Given the description of an element on the screen output the (x, y) to click on. 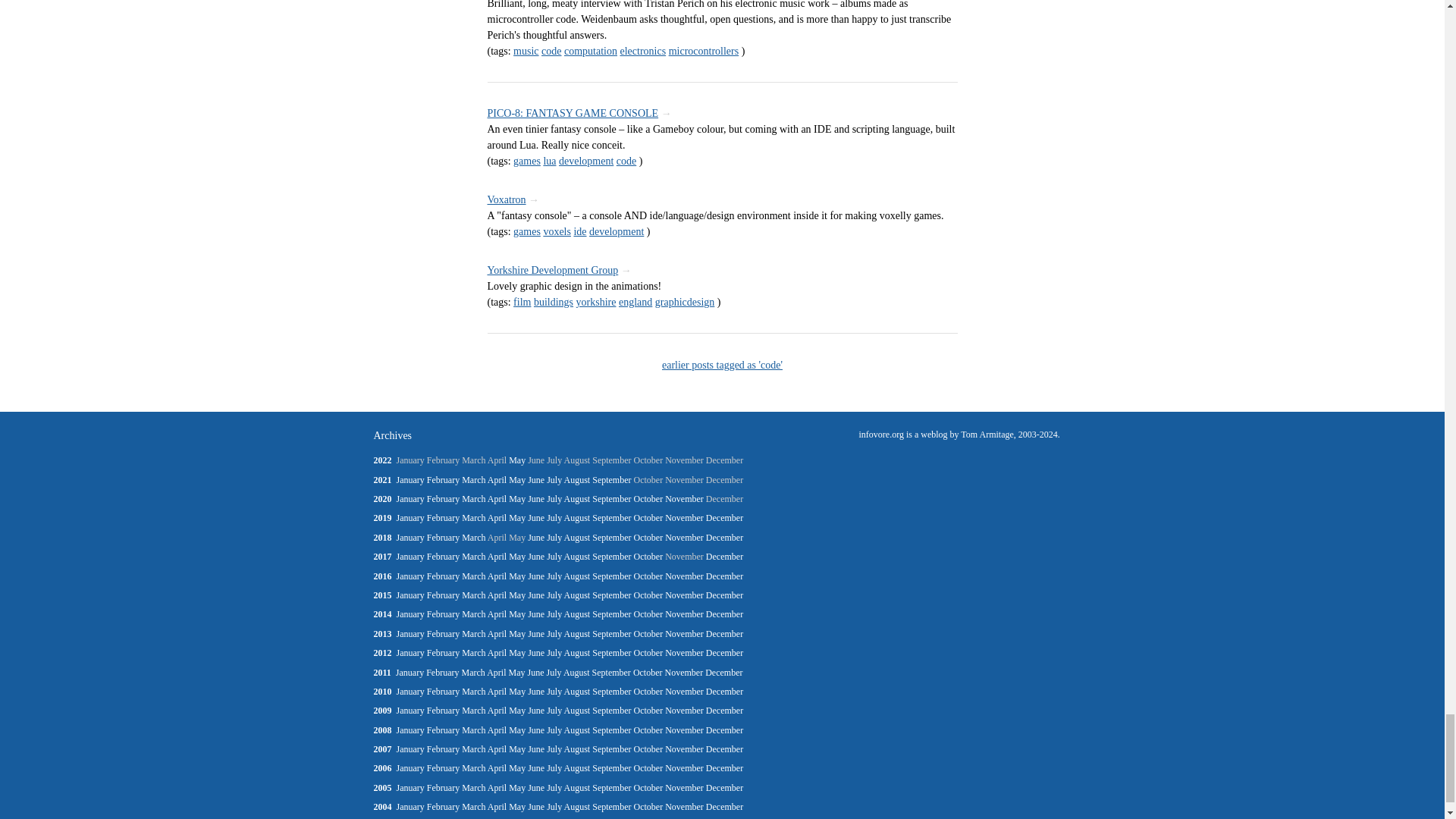
February 2020 (443, 498)
August 2021 (577, 480)
March 2020 (472, 498)
April 2020 (496, 498)
April 2021 (496, 480)
July 2021 (554, 480)
May 2020 (516, 498)
May 2021 (516, 480)
June 2021 (535, 480)
September 2021 (611, 480)
March 2021 (472, 480)
January 2021 (409, 480)
May 2022 (516, 460)
February 2021 (443, 480)
January 2020 (409, 498)
